Given the description of an element on the screen output the (x, y) to click on. 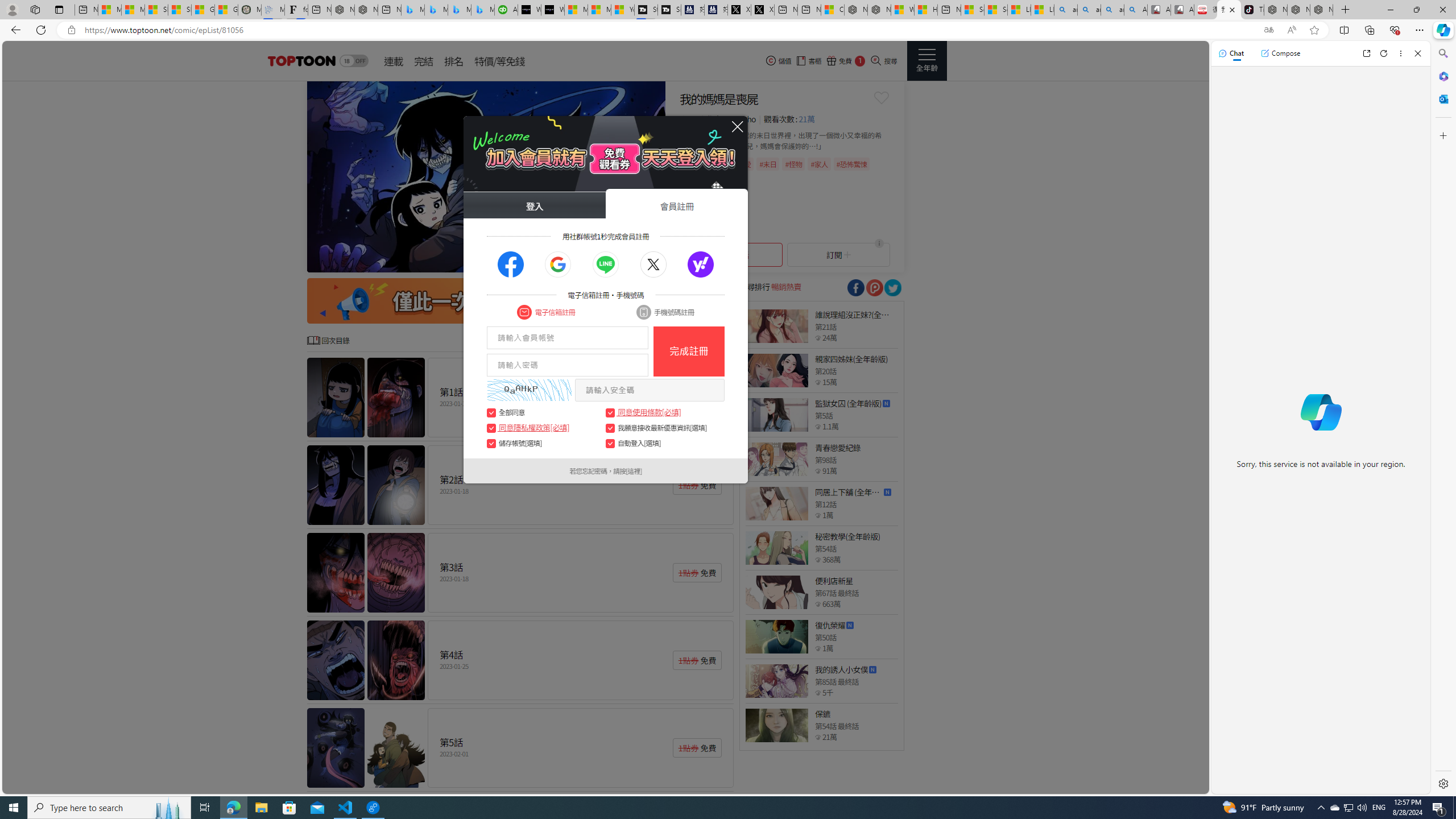
Class: swiper-slide swiper-slide-active (486, 176)
captcha (529, 390)
Class: socialBtn actionSocialJoinBtn (701, 264)
